Given the description of an element on the screen output the (x, y) to click on. 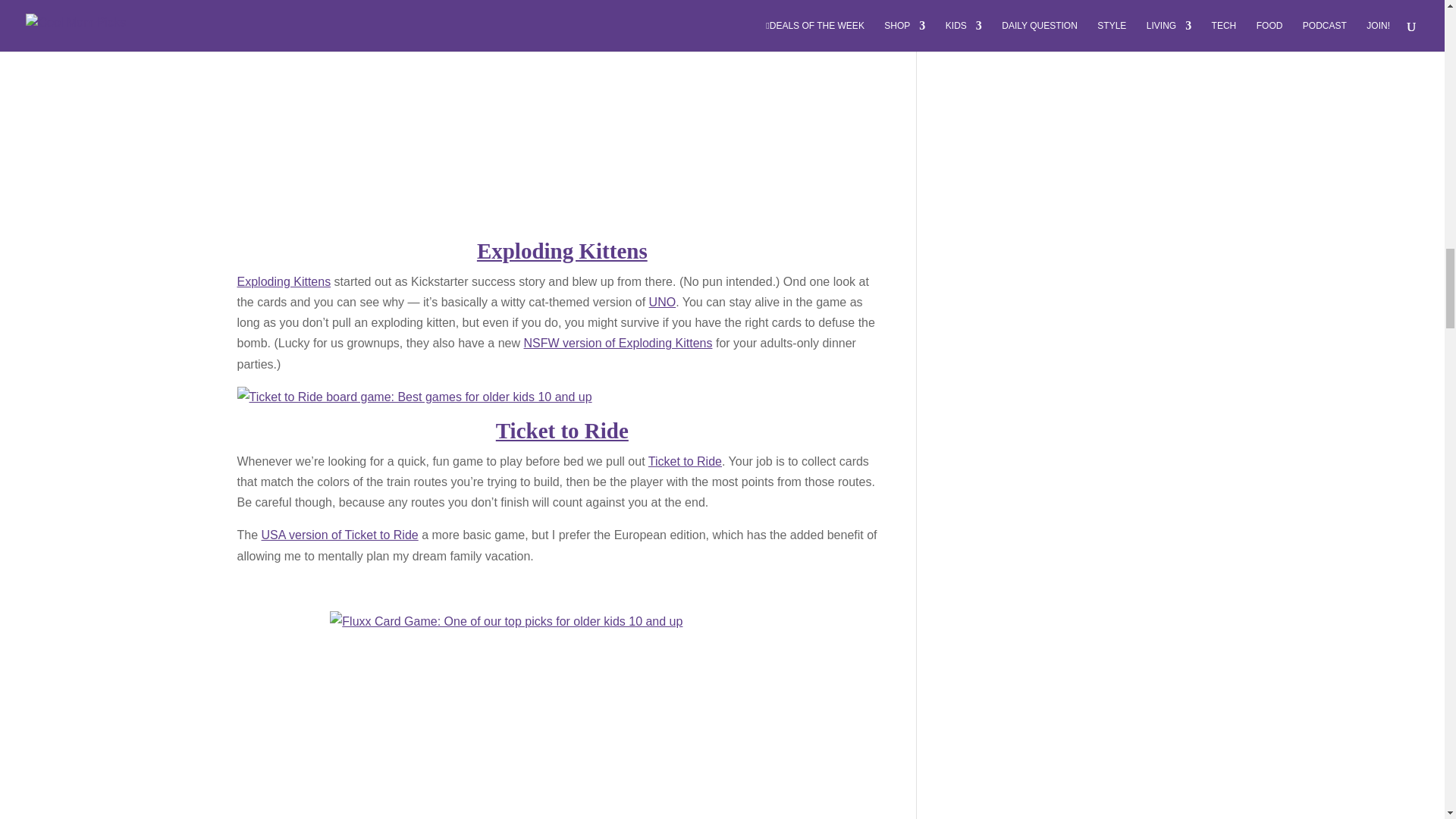
Exploding Kittens (562, 250)
Exploding Kittens (282, 281)
